Given the description of an element on the screen output the (x, y) to click on. 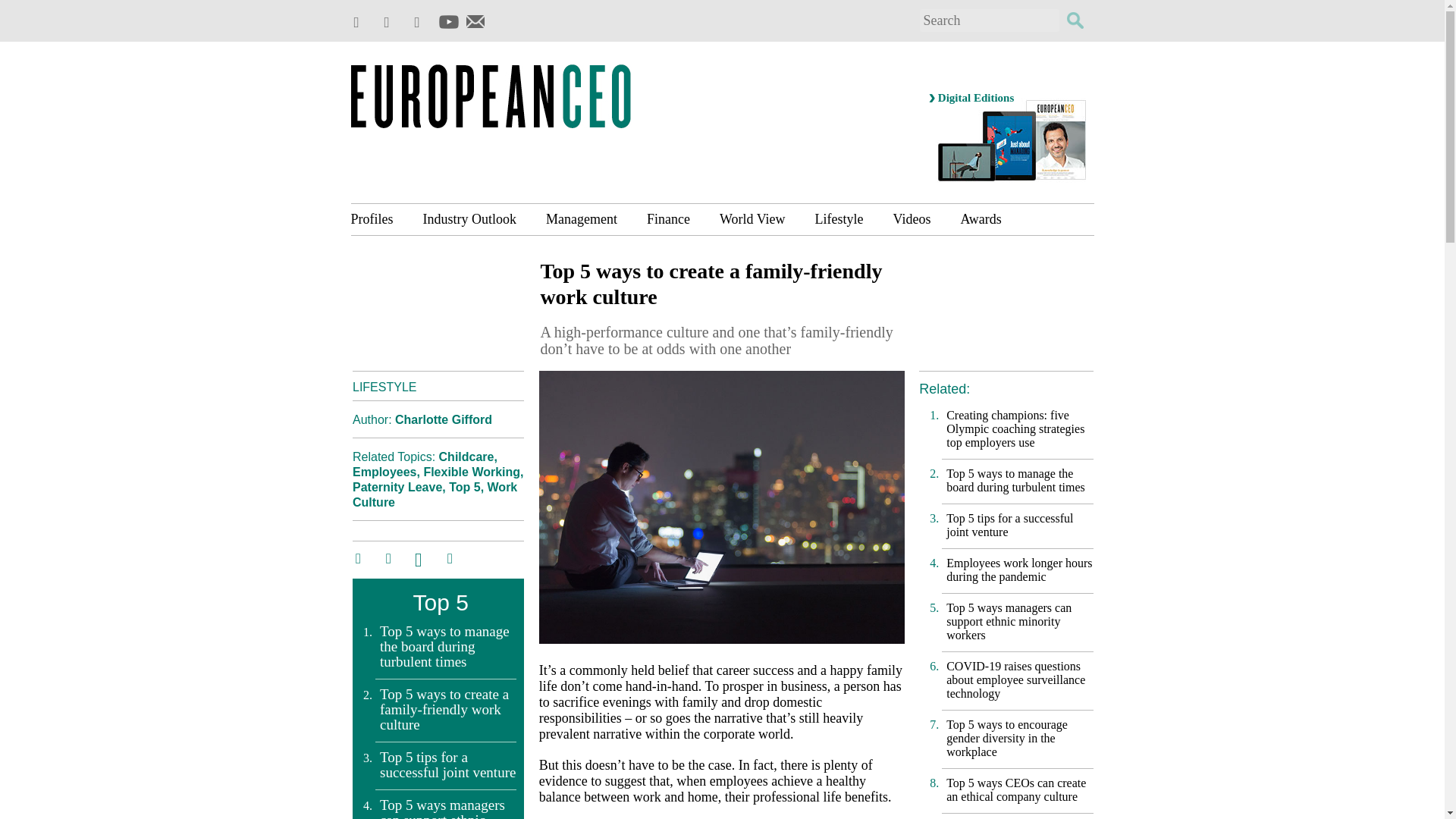
Top 5 (464, 486)
Top 5 ways to create a family-friendly work culture (448, 709)
Management (581, 219)
European CEO - Twitter (361, 22)
LIFESTYLE (384, 386)
Top 5 ways to manage the board during turbulent times (448, 646)
Finance (667, 219)
Lifestyle (838, 219)
Industry Outlook (469, 219)
Profiles (378, 219)
